Given the description of an element on the screen output the (x, y) to click on. 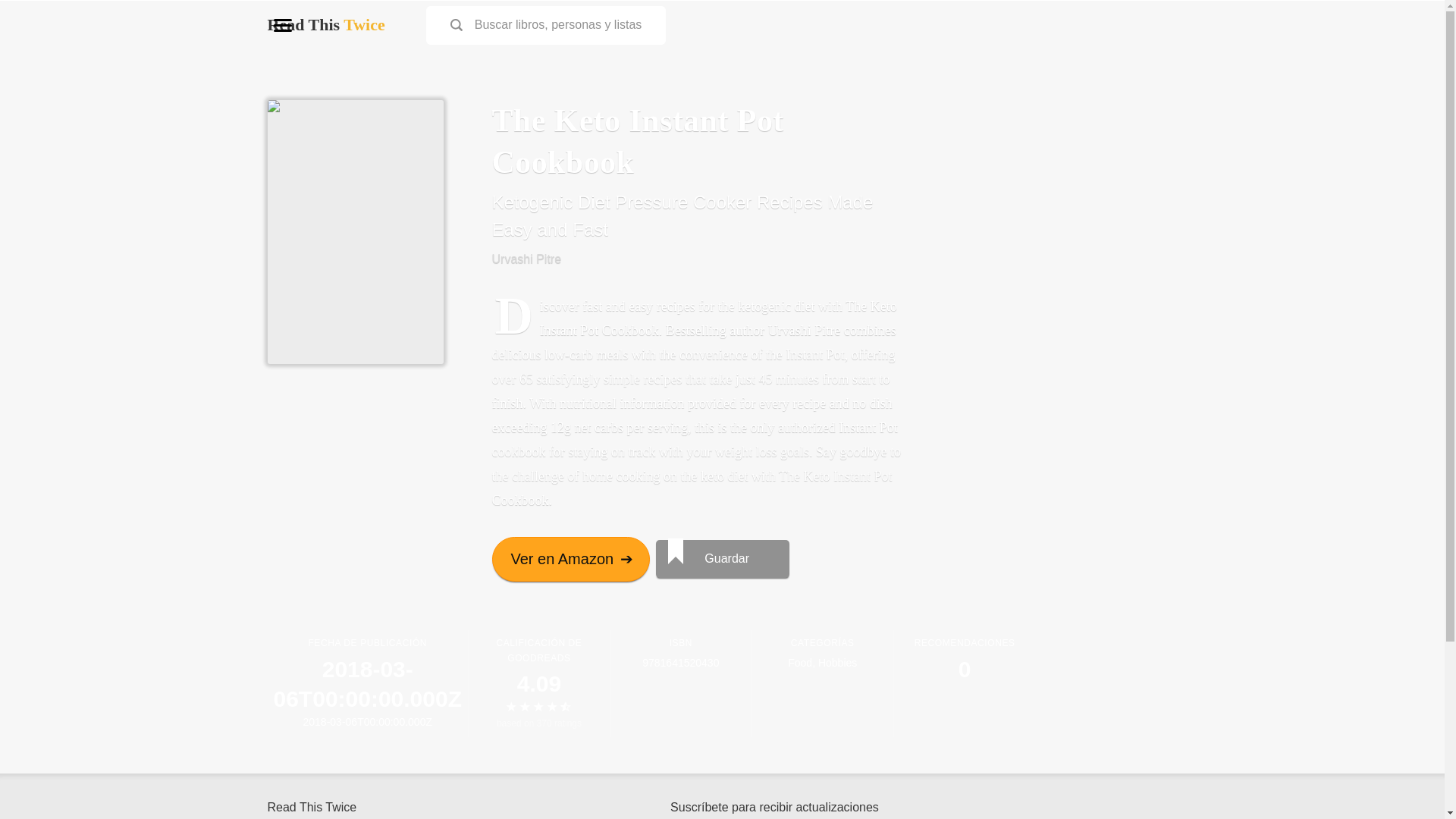
Hobbies (837, 662)
Guardar (722, 558)
Goodreads reviews (538, 723)
based on 370 ratings (538, 723)
Read This Twice (325, 24)
Food (799, 662)
